Given the description of an element on the screen output the (x, y) to click on. 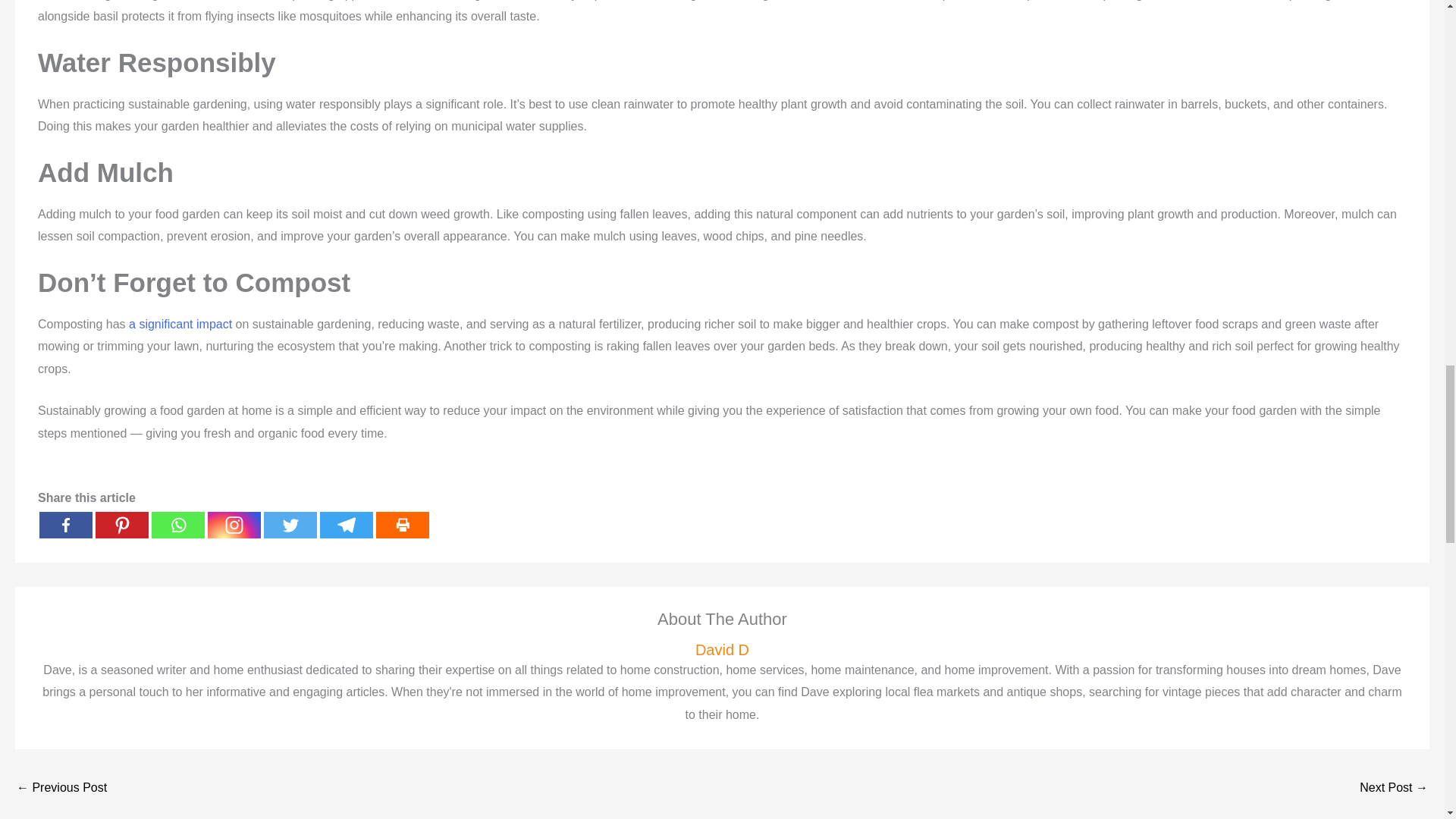
Instagram (234, 524)
Facebook (66, 524)
David D (721, 650)
a significant impact (180, 323)
Pinterest (122, 524)
Whatsapp (178, 524)
